Given the description of an element on the screen output the (x, y) to click on. 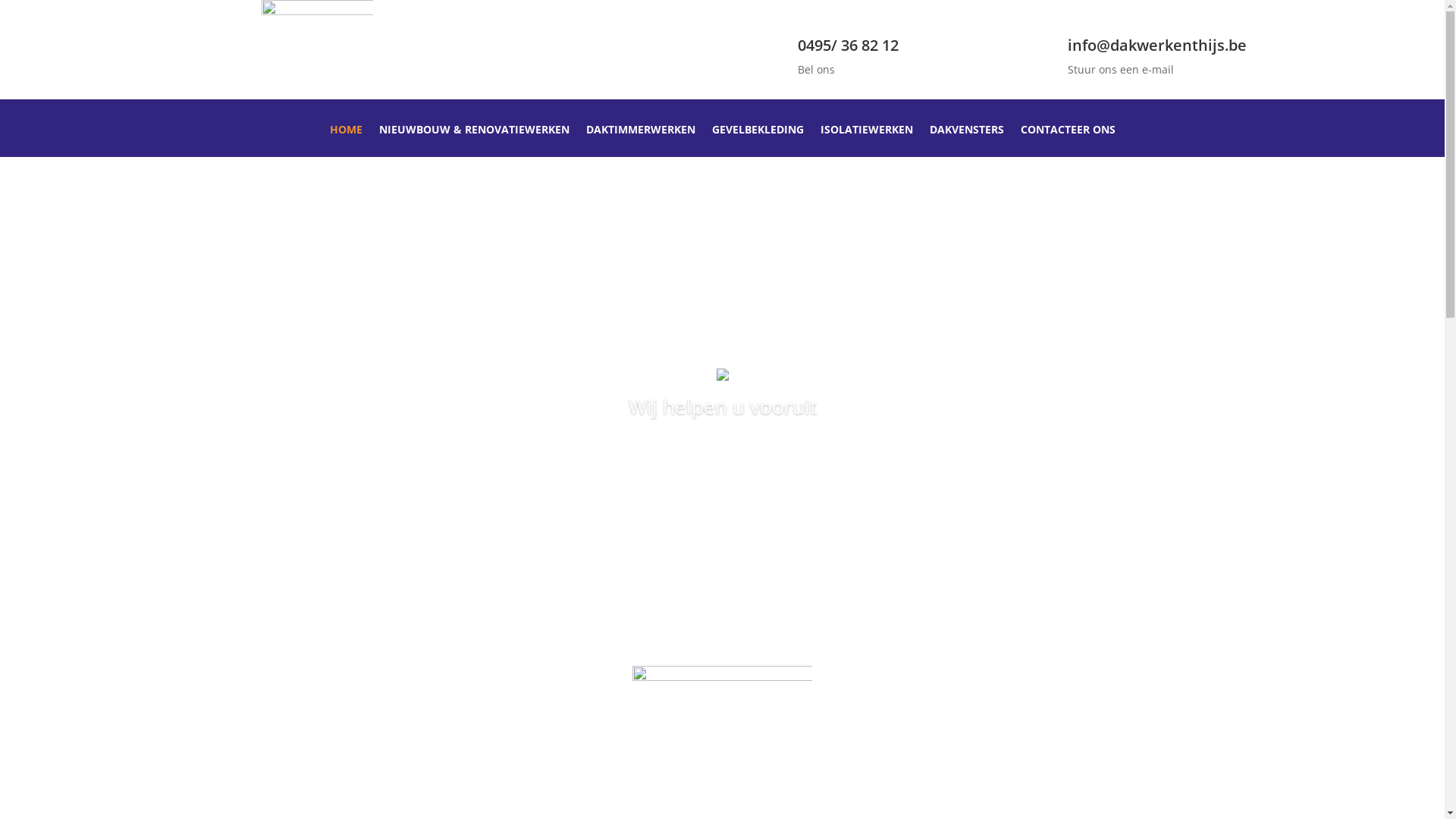
HOME Element type: text (345, 140)
DAKVENSTERS Element type: text (966, 140)
CONTACTEER ONS Element type: text (1067, 140)
NIEUWBOUW & RENOVATIEWERKEN Element type: text (474, 140)
info@dakwerkenthijs.be Element type: text (1156, 44)
0495/ 36 82 12 Element type: text (847, 44)
ISOLATIEWERKEN Element type: text (866, 140)
DAKTIMMERWERKEN Element type: text (639, 140)
GEVELBEKLEDING Element type: text (757, 140)
